Given the description of an element on the screen output the (x, y) to click on. 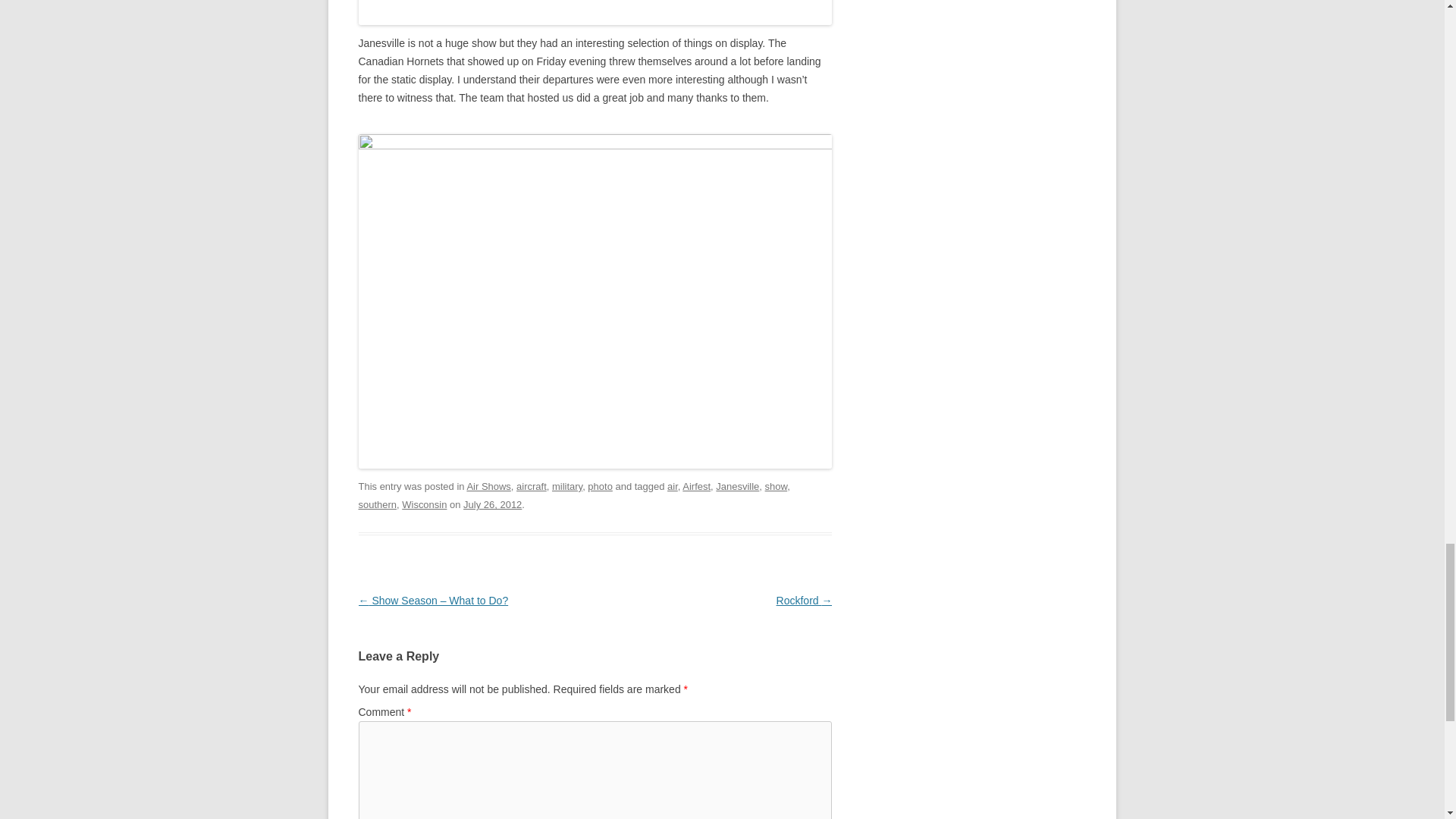
photo (600, 486)
aircraft (531, 486)
Air Shows (488, 486)
Wisconsin (423, 504)
July 26, 2012 (492, 504)
military (566, 486)
Janesville (737, 486)
show (776, 486)
wpid4039-AU0E1936.jpg (594, 12)
